Given the description of an element on the screen output the (x, y) to click on. 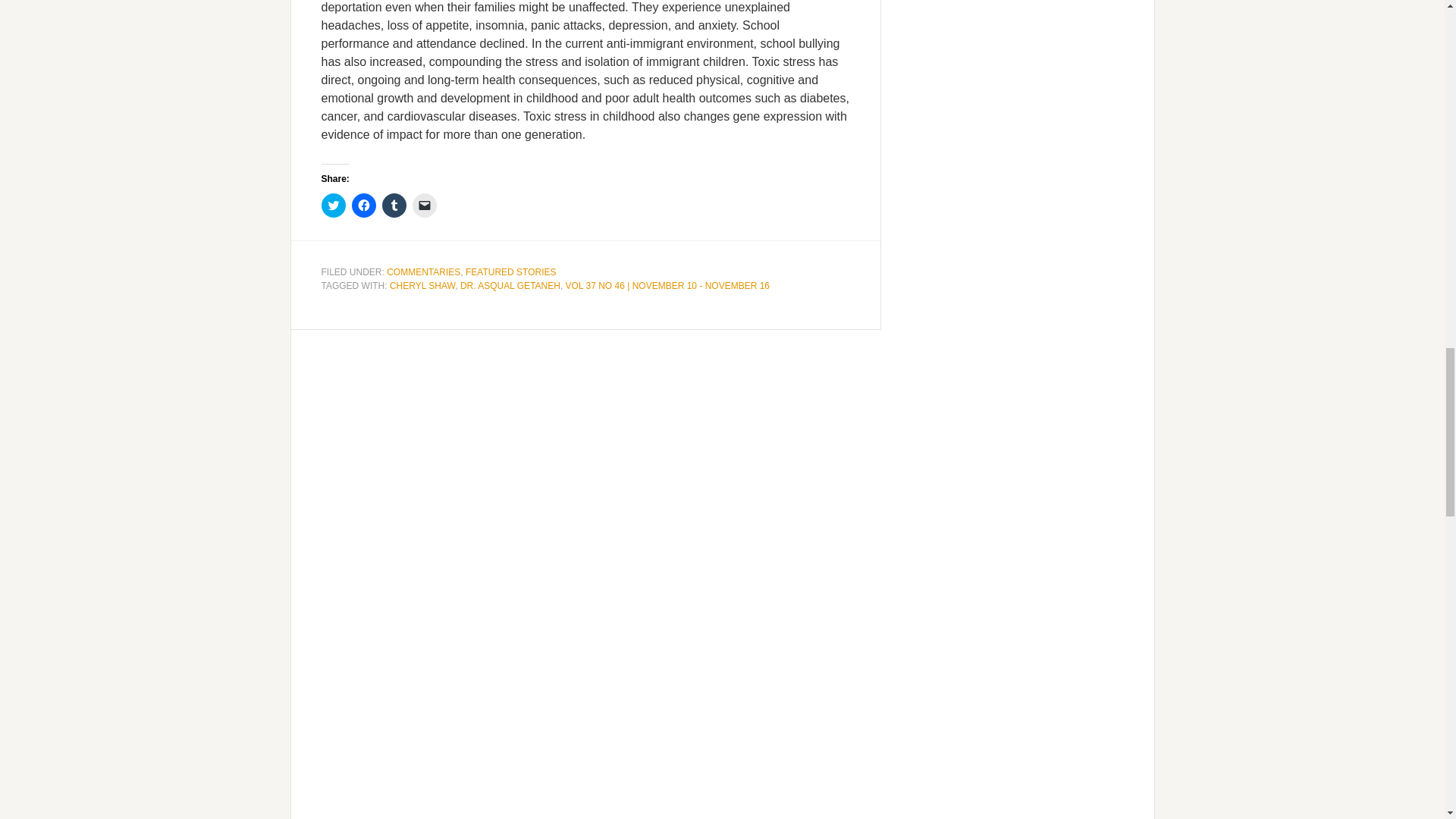
Click to share on Tumblr (393, 205)
Click to share on Facebook (363, 205)
Click to email a link to a friend (424, 205)
Click to share on Twitter (333, 205)
